Given the description of an element on the screen output the (x, y) to click on. 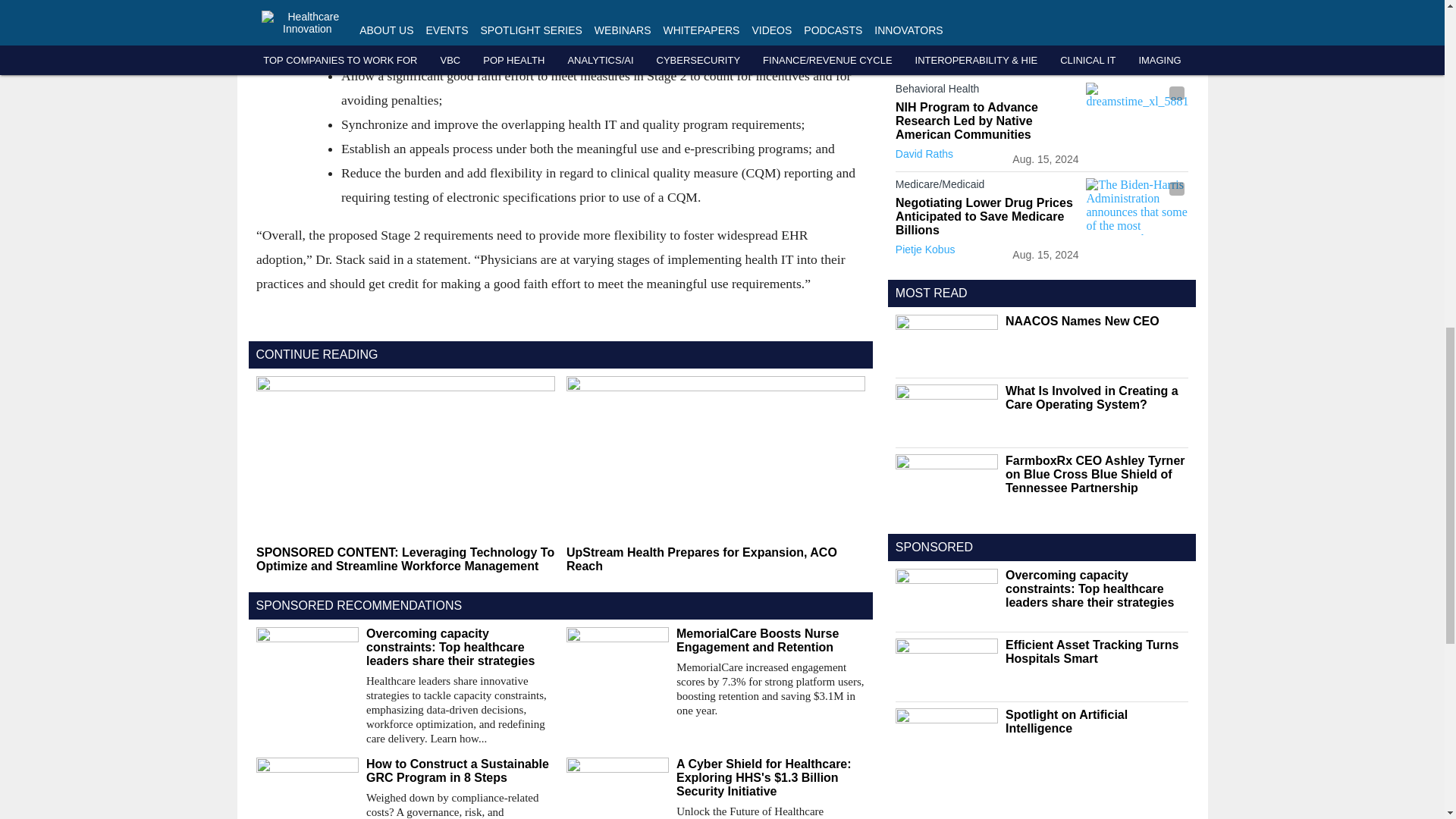
MemorialCare Boosts Nurse Engagement and Retention (770, 640)
LATEST IN HOME (945, 60)
Behavioral Health (986, 91)
How to Construct a Sustainable GRC Program in 8 Steps (459, 770)
UpStream Health Prepares for Expansion, ACO Reach (715, 559)
